Given the description of an element on the screen output the (x, y) to click on. 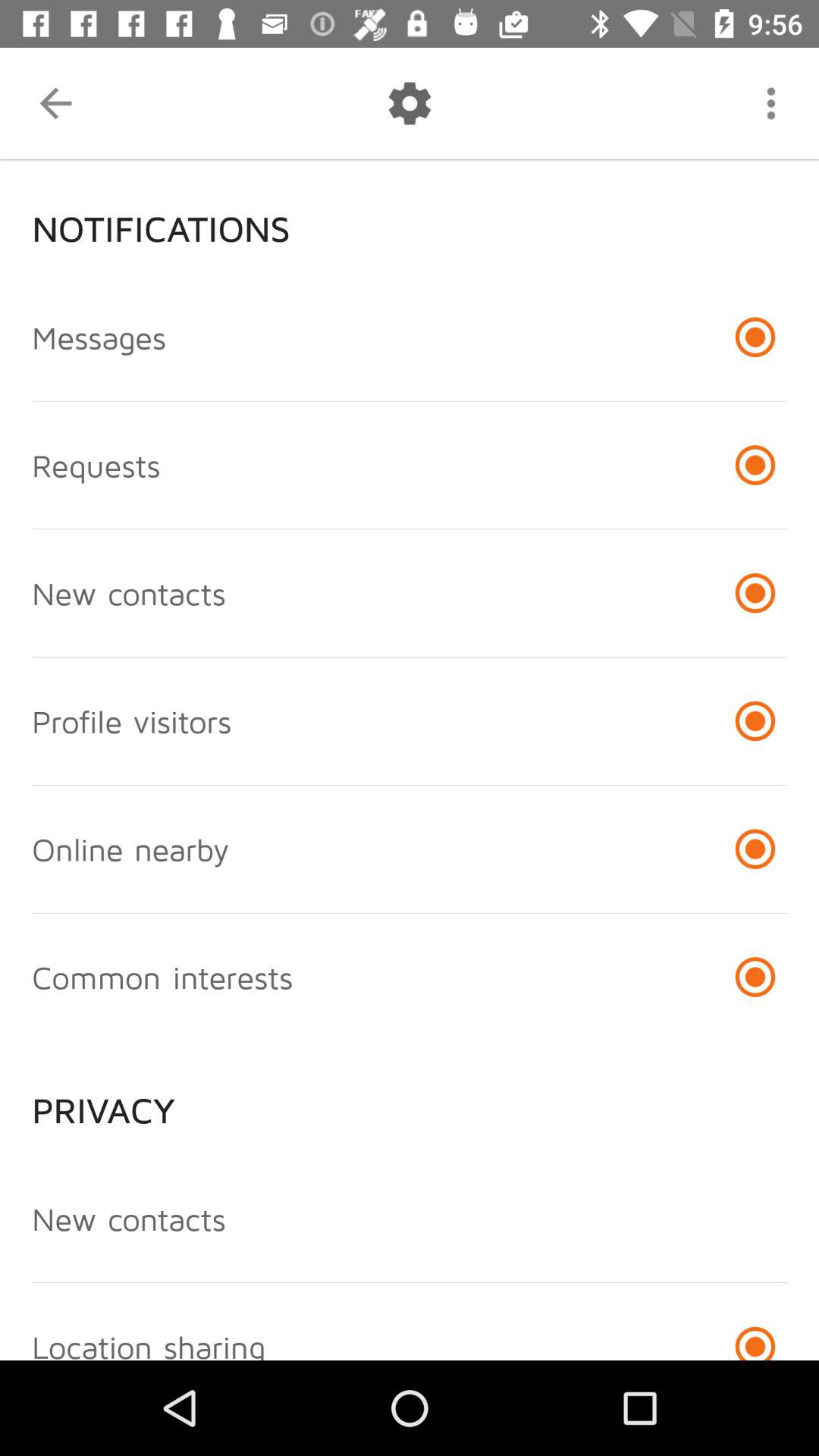
jump to the location sharing item (148, 1343)
